Given the description of an element on the screen output the (x, y) to click on. 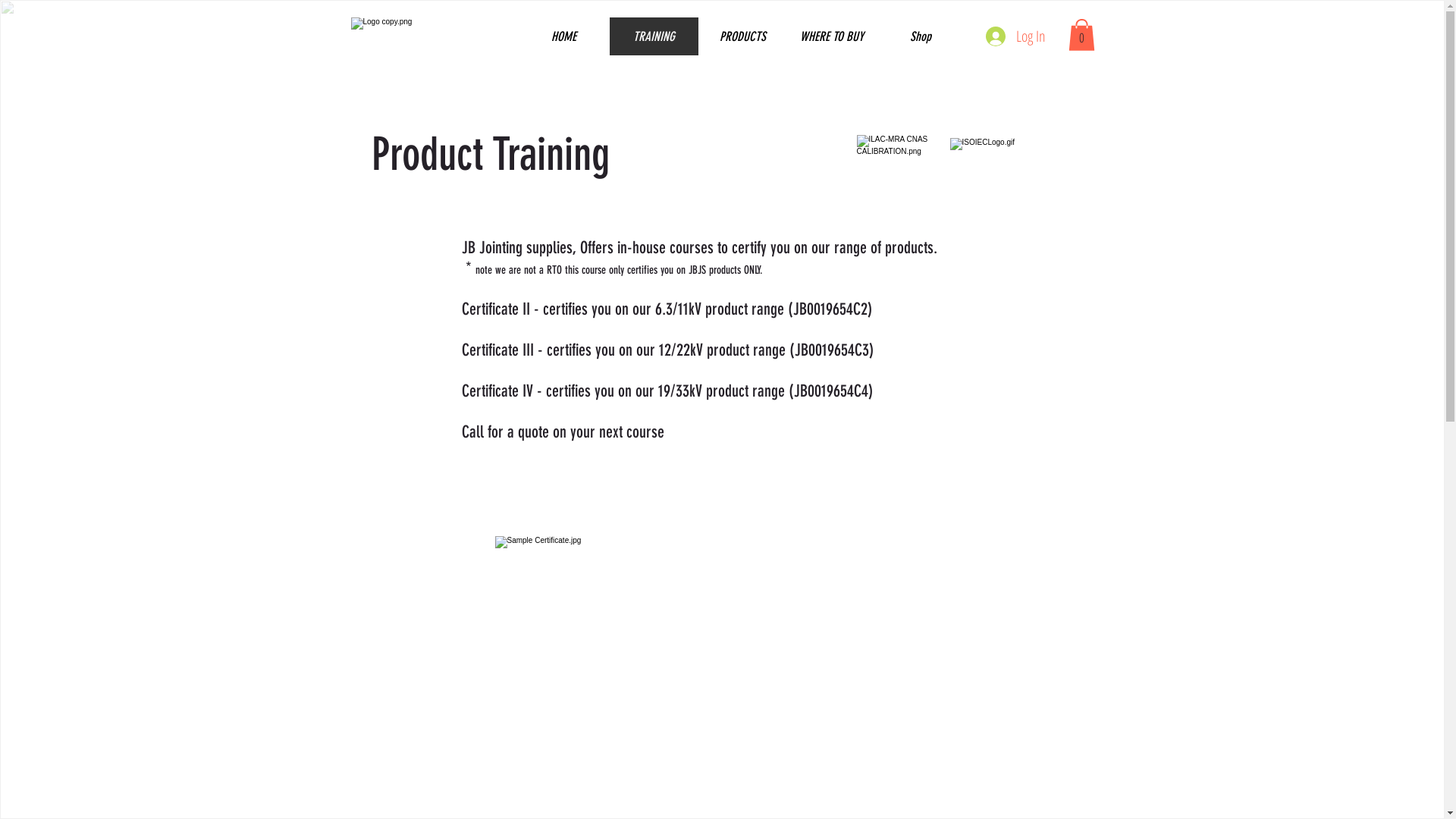
PRODUCTS Element type: text (741, 36)
Shop Element type: text (919, 36)
HOME Element type: text (563, 36)
Log In Element type: text (1006, 36)
WHERE TO BUY Element type: text (831, 36)
TRAINING Element type: text (652, 36)
0 Element type: text (1080, 34)
